Given the description of an element on the screen output the (x, y) to click on. 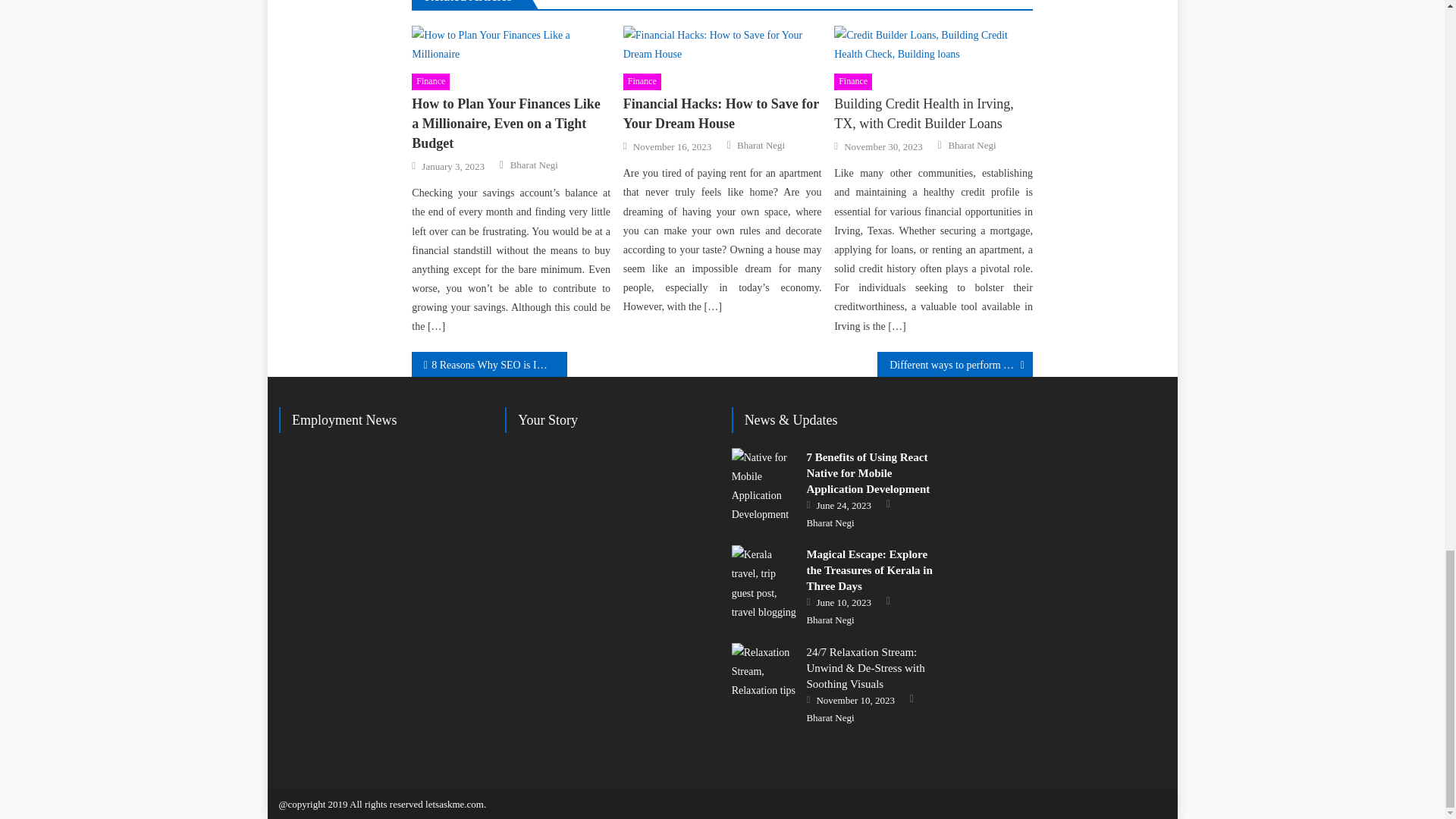
Finance (642, 81)
Bharat Negi (534, 164)
January 3, 2023 (453, 166)
November 16, 2023 (672, 146)
Bharat Negi (760, 145)
Finance (853, 81)
Financial Hacks: How to Save for Your Dream House (722, 113)
Finance (430, 81)
Financial Hacks: How to Save for Your Dream House (722, 44)
